Given the description of an element on the screen output the (x, y) to click on. 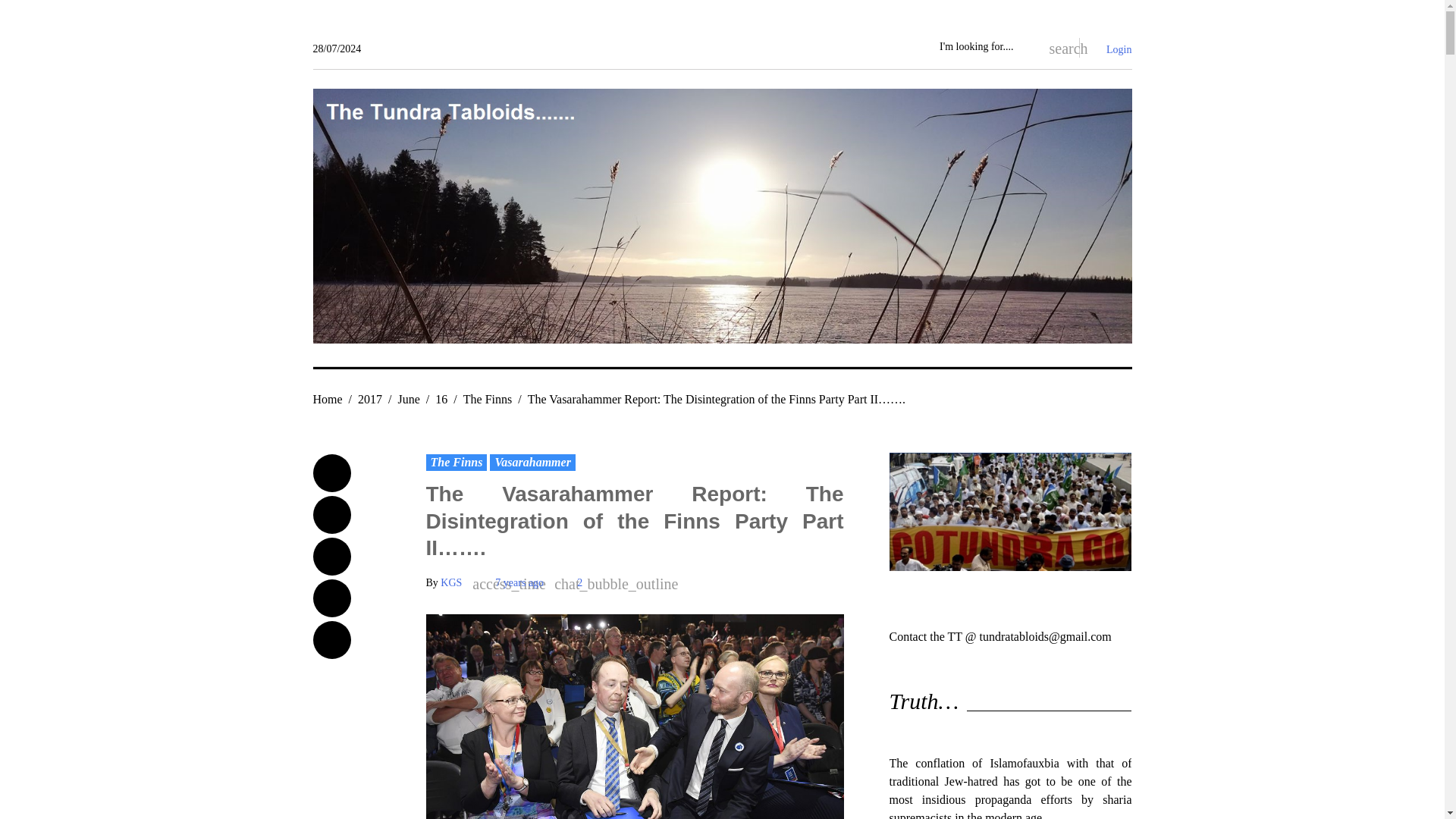
search (1056, 46)
KGS (451, 582)
June (408, 399)
Share on Pinterest (331, 639)
The Finns (487, 399)
The Finns (456, 462)
Twitter (331, 514)
Home (327, 399)
Vasarahammer (532, 462)
Pinterest (331, 639)
Search for: (984, 47)
7 years ago (519, 582)
June (408, 399)
LinkedIn (331, 598)
Facebook (331, 473)
